Given the description of an element on the screen output the (x, y) to click on. 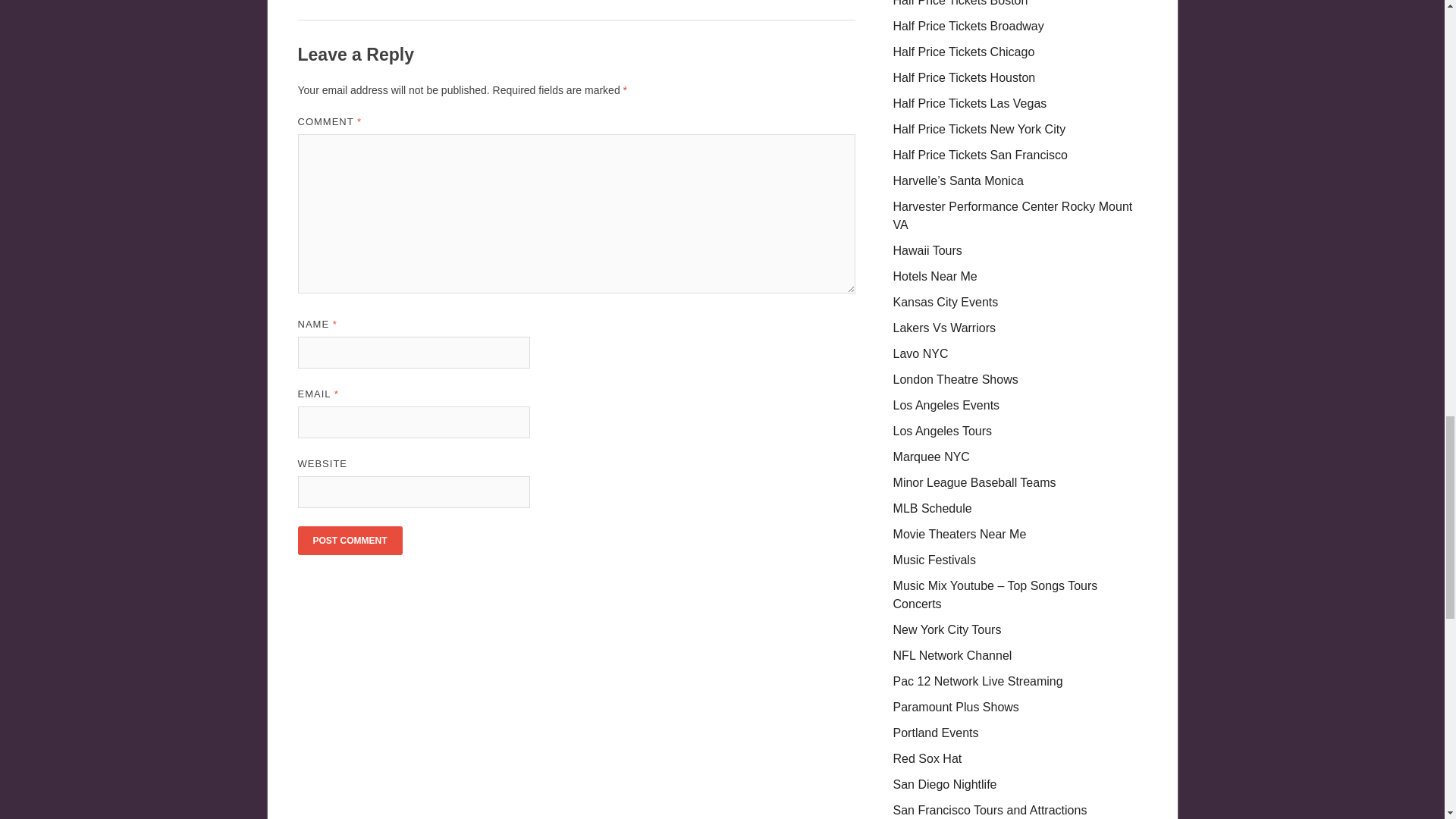
Post Comment (349, 540)
